Given the description of an element on the screen output the (x, y) to click on. 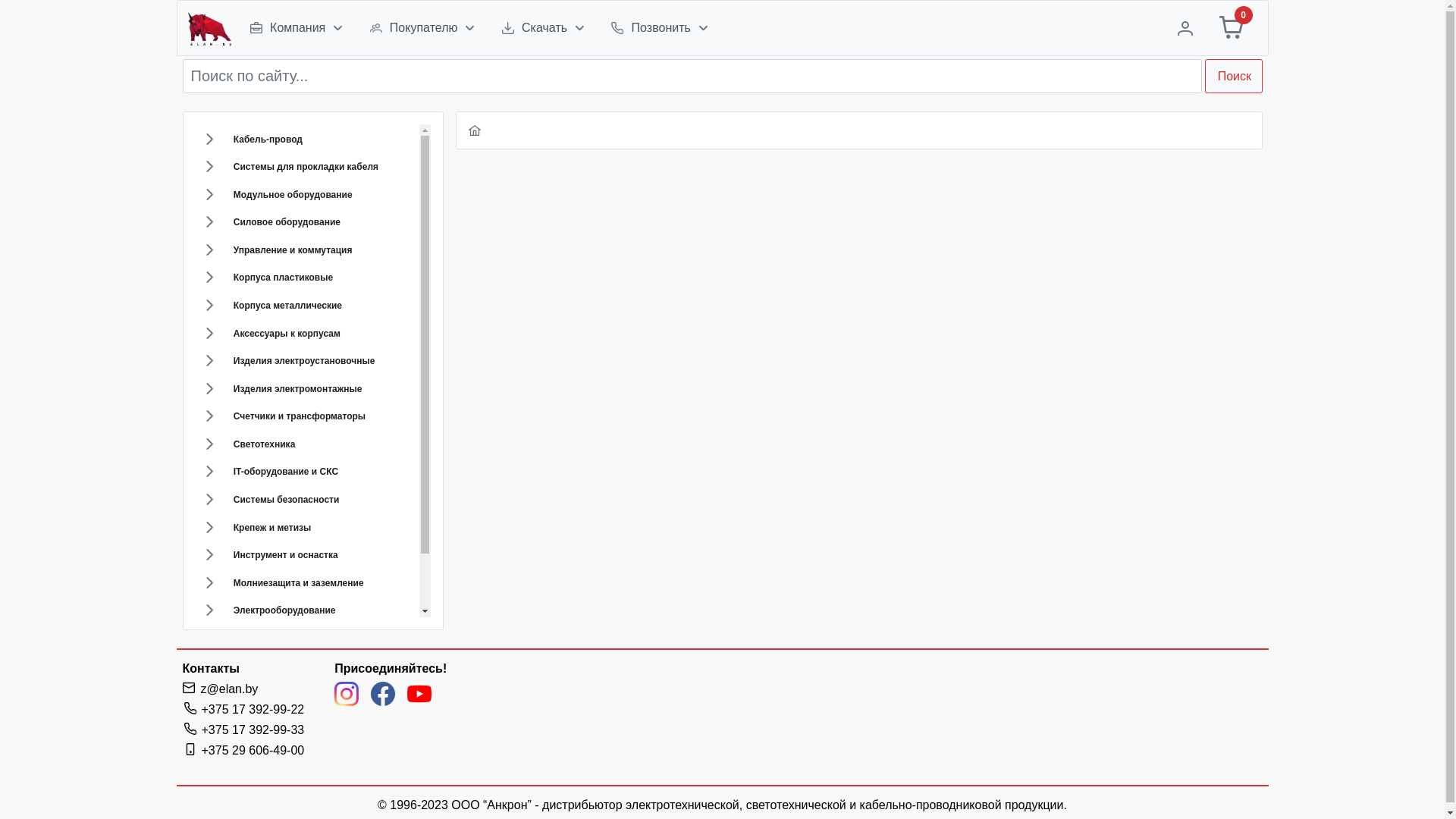
z@elan.by Element type: text (228, 688)
+375 17 392-99-33 Element type: text (243, 729)
+375 17 392-99-22 Element type: text (243, 708)
+375 29 606-49-00 Element type: text (243, 749)
0 Element type: text (1240, 27)
